Given the description of an element on the screen output the (x, y) to click on. 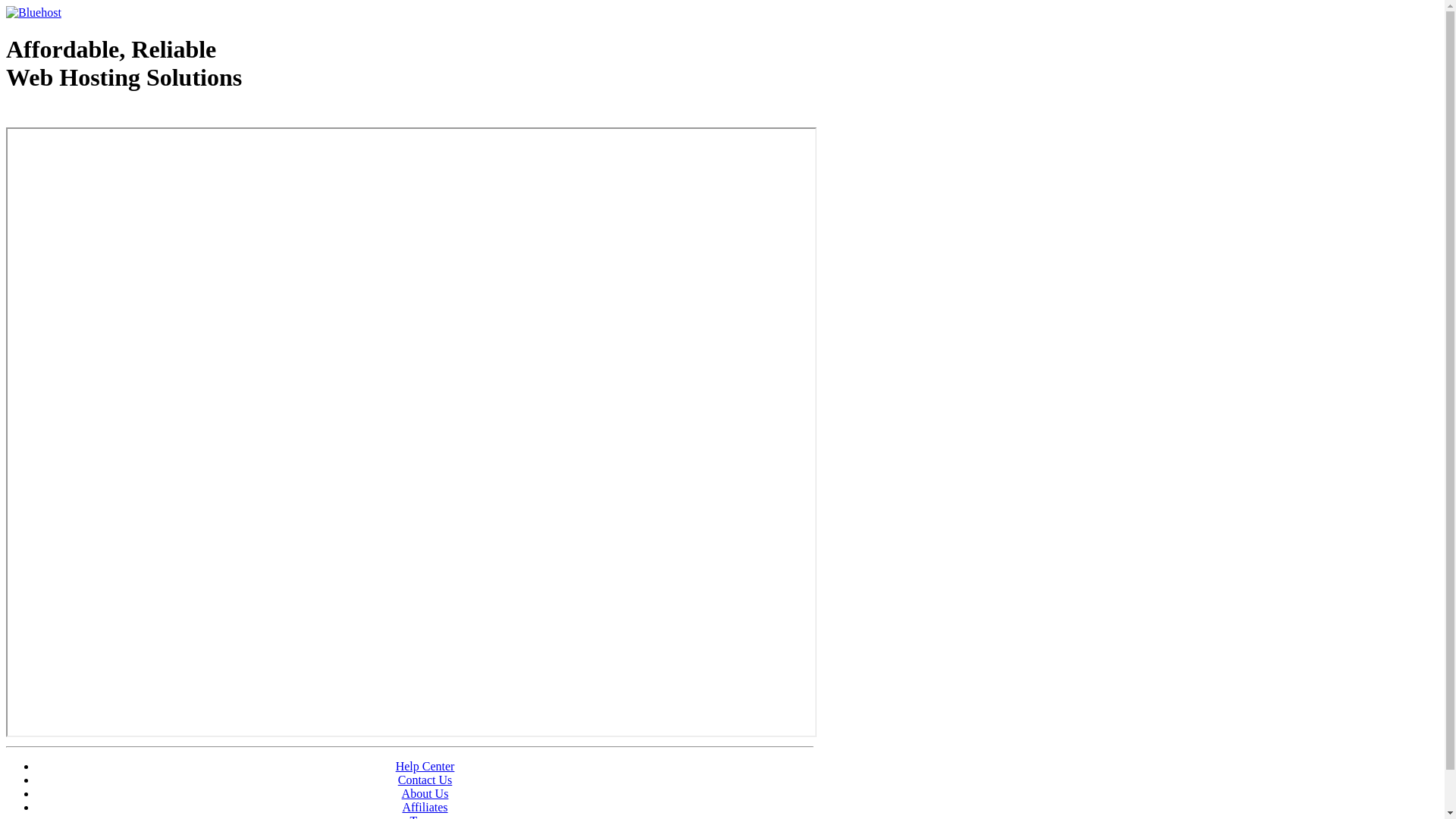
Affiliates Element type: text (424, 806)
Contact Us Element type: text (425, 779)
About Us Element type: text (424, 793)
Help Center Element type: text (425, 765)
Web Hosting - courtesy of www.bluehost.com Element type: text (94, 115)
